Given the description of an element on the screen output the (x, y) to click on. 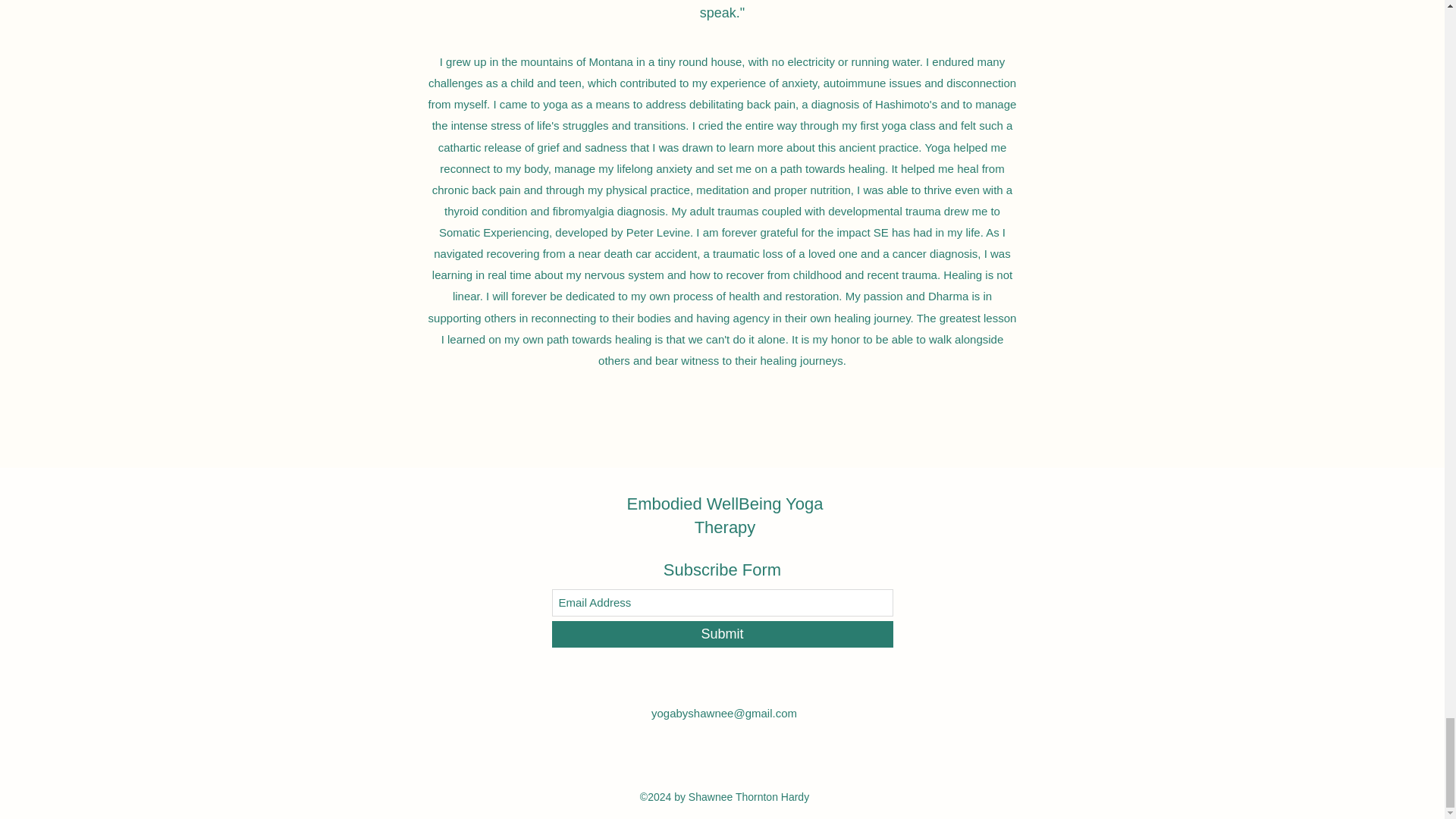
Submit (722, 633)
